Given the description of an element on the screen output the (x, y) to click on. 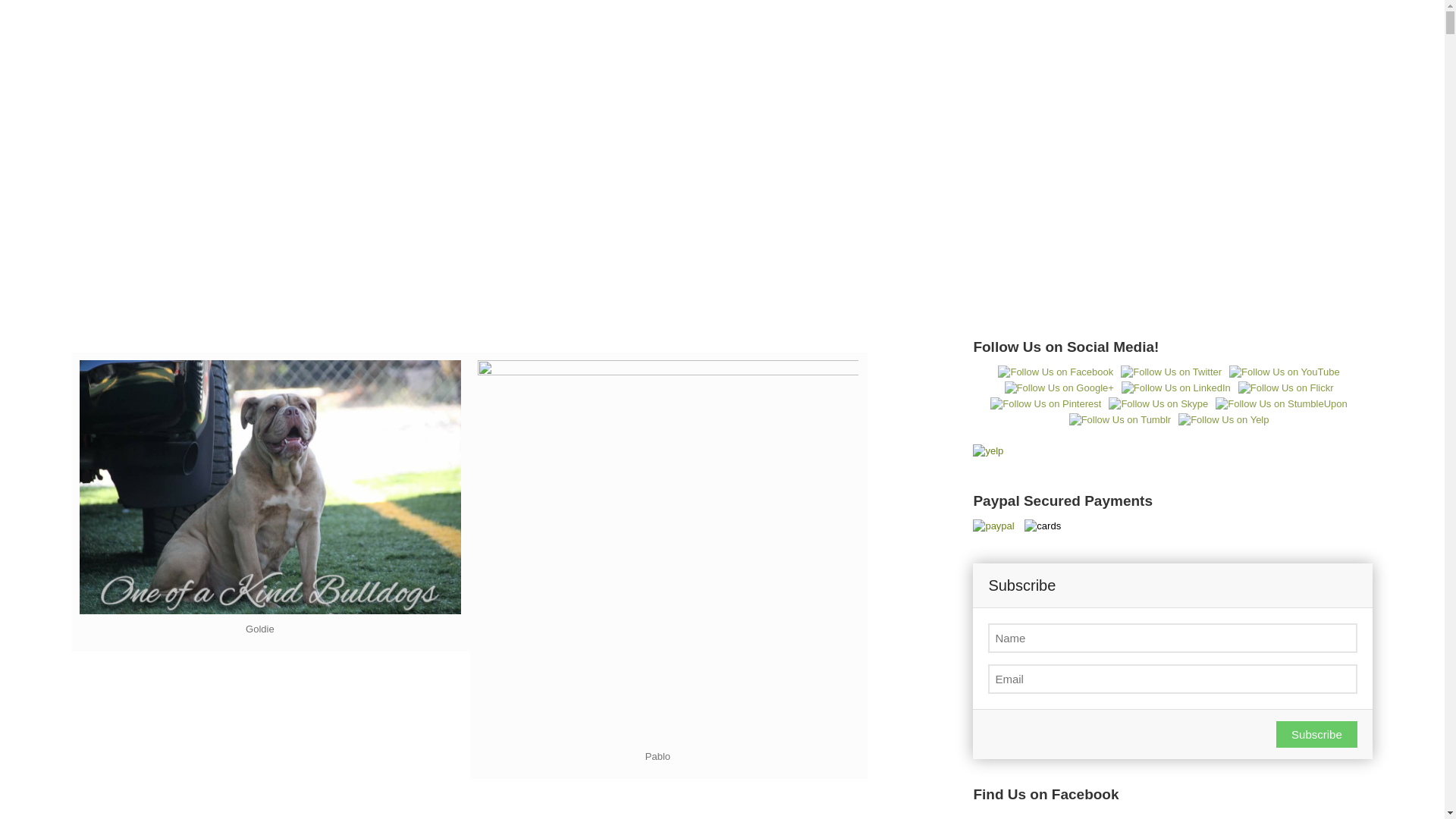
Follow Us on StumbleUpon (1281, 404)
Follow Us on LinkedIn (1175, 387)
Follow Us on Skype (1158, 404)
Follow Us on Yelp (1222, 419)
Follow Us on YouTube (1283, 372)
Follow Us on Facebook (1055, 372)
Follow Us on Pinterest (1045, 404)
Follow Us on Twitter (1171, 372)
Follow Us on Tumblr (1119, 419)
Follow Us on Flickr (1286, 387)
